Given the description of an element on the screen output the (x, y) to click on. 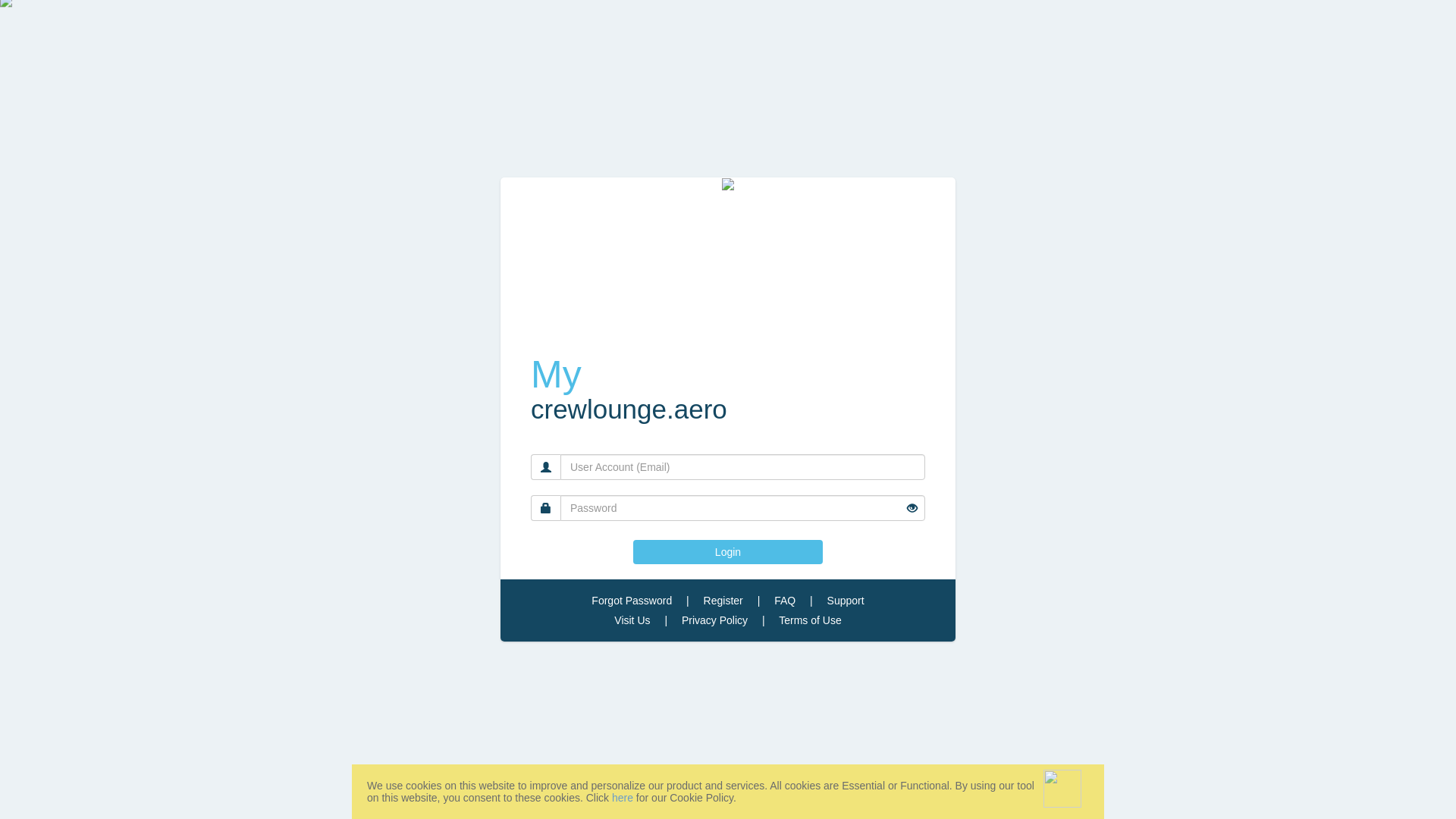
Register Element type: text (723, 600)
| Element type: text (758, 600)
| Element type: text (687, 600)
Login Element type: text (727, 551)
| Element type: text (763, 620)
| Element type: text (810, 600)
here Element type: text (622, 797)
| Element type: text (665, 620)
Support Element type: text (845, 600)
FAQ Element type: text (784, 600)
Visit Us Element type: text (631, 620)
Privacy Policy Element type: text (714, 620)
Terms of Use Element type: text (809, 620)
Forgot Password Element type: text (631, 600)
